Given the description of an element on the screen output the (x, y) to click on. 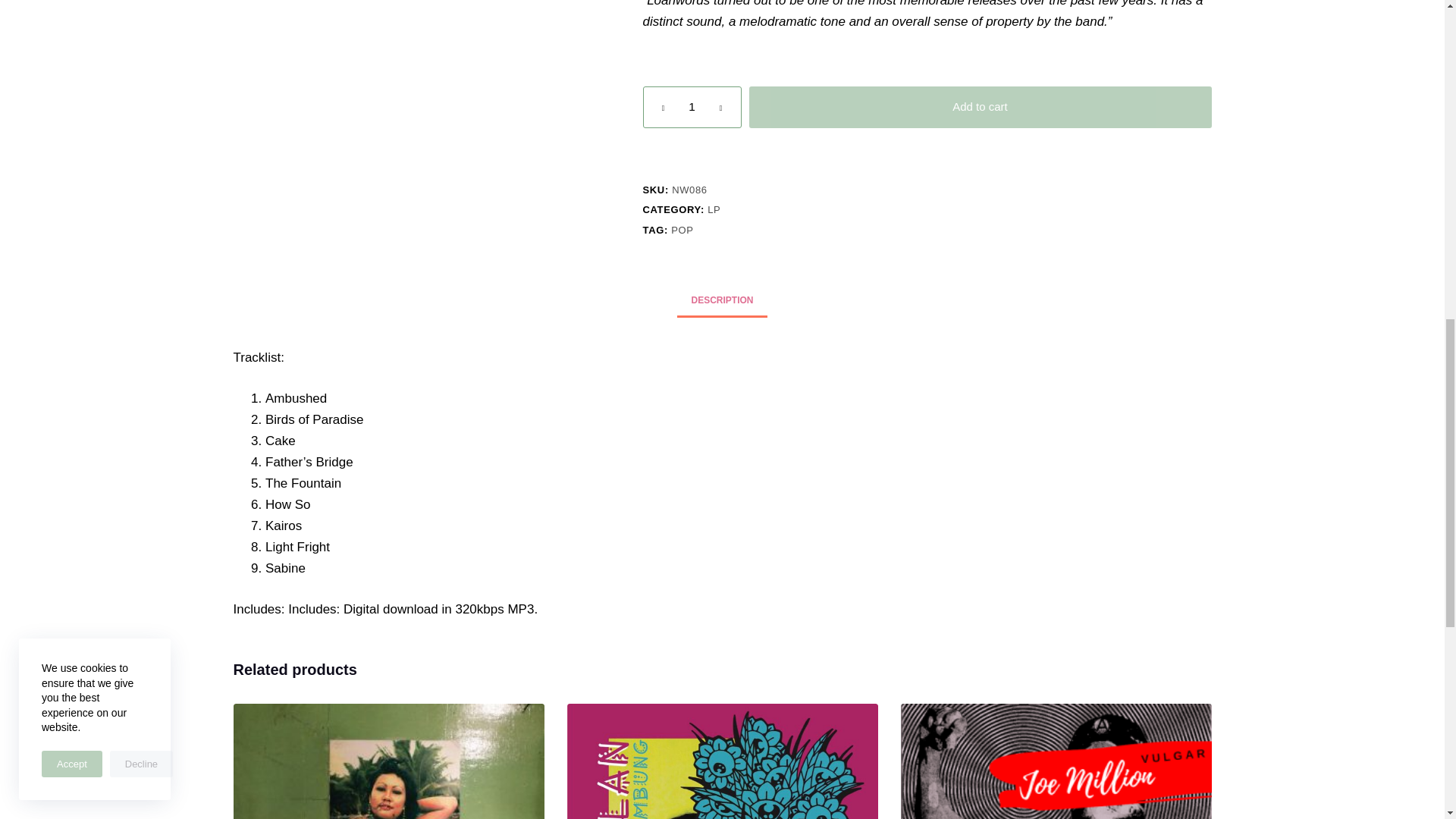
Qty (692, 106)
Joe-Million-VULGAR-min (1056, 761)
Harlan - Bersambung (722, 761)
1 (692, 106)
